Given the description of an element on the screen output the (x, y) to click on. 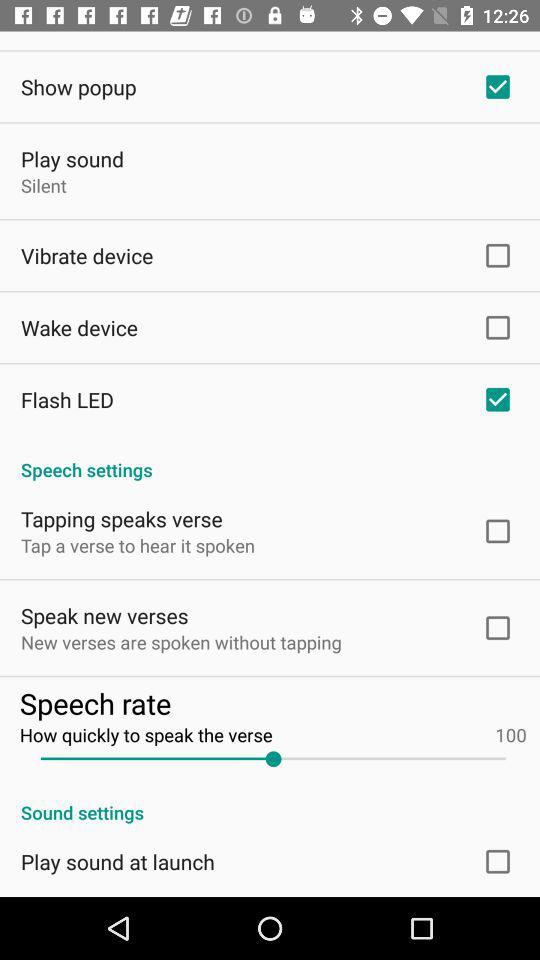
turn off item above the play sound (78, 86)
